Given the description of an element on the screen output the (x, y) to click on. 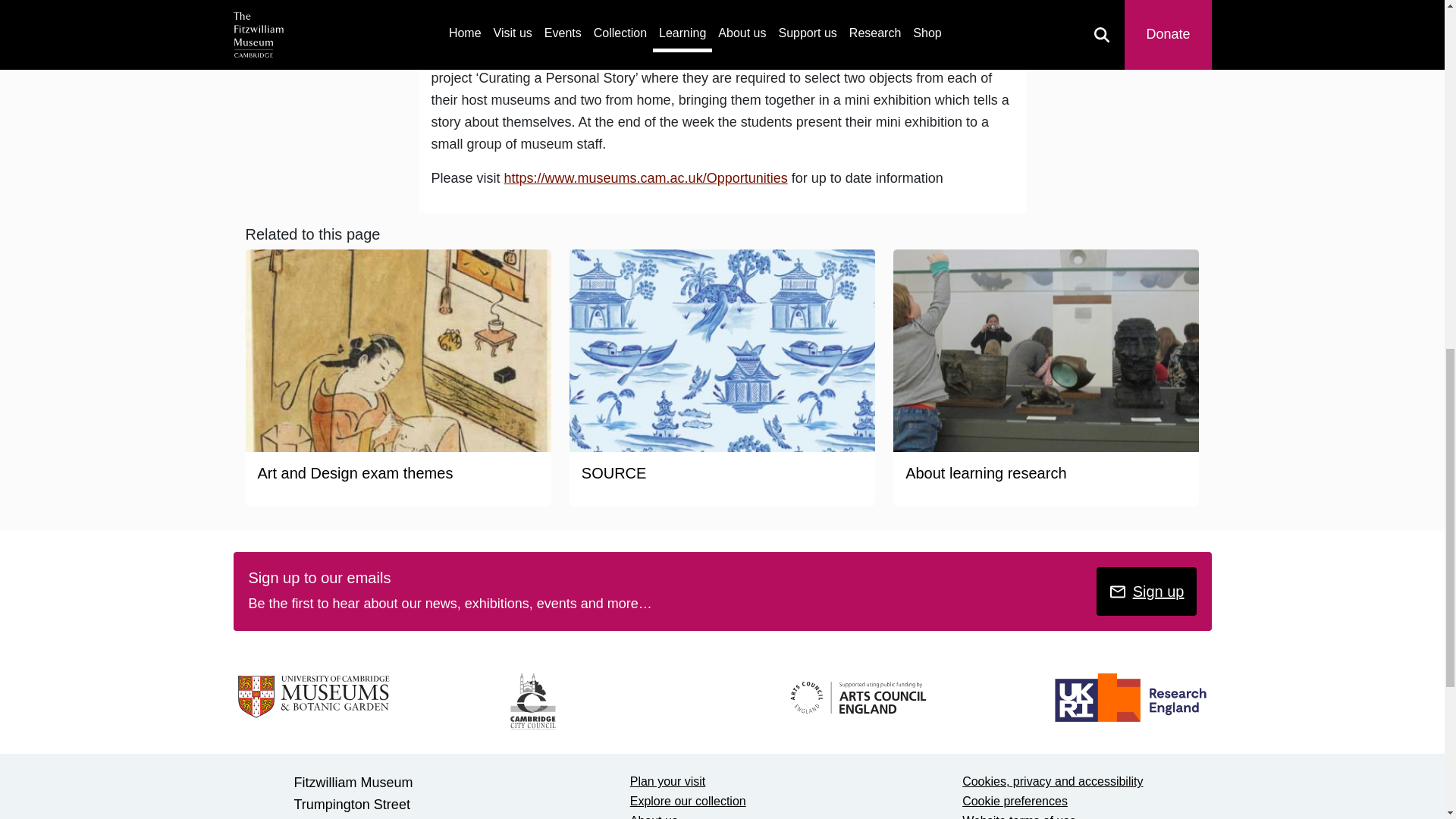
SOURCE (613, 473)
Art and Design exam themes (354, 473)
Explore our collection (687, 800)
Sign up (1146, 591)
About us (654, 816)
About learning research (985, 473)
Plan your visit (668, 780)
Cookies, privacy and accessibility (1052, 780)
Website terms of use (1018, 816)
Cookie preferences (1014, 800)
